Given the description of an element on the screen output the (x, y) to click on. 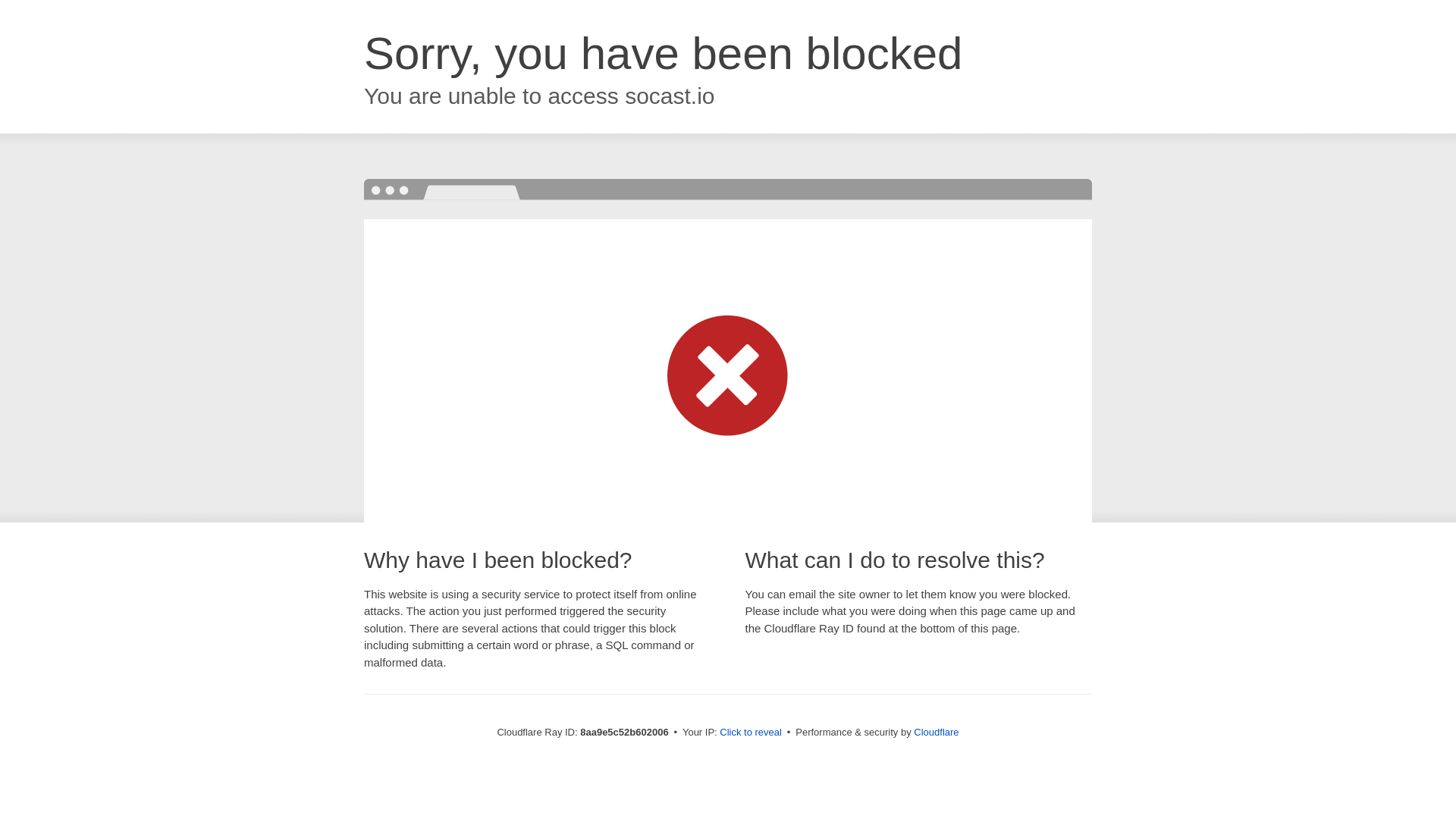
Cloudflare (936, 731)
Click to reveal (750, 732)
